Given the description of an element on the screen output the (x, y) to click on. 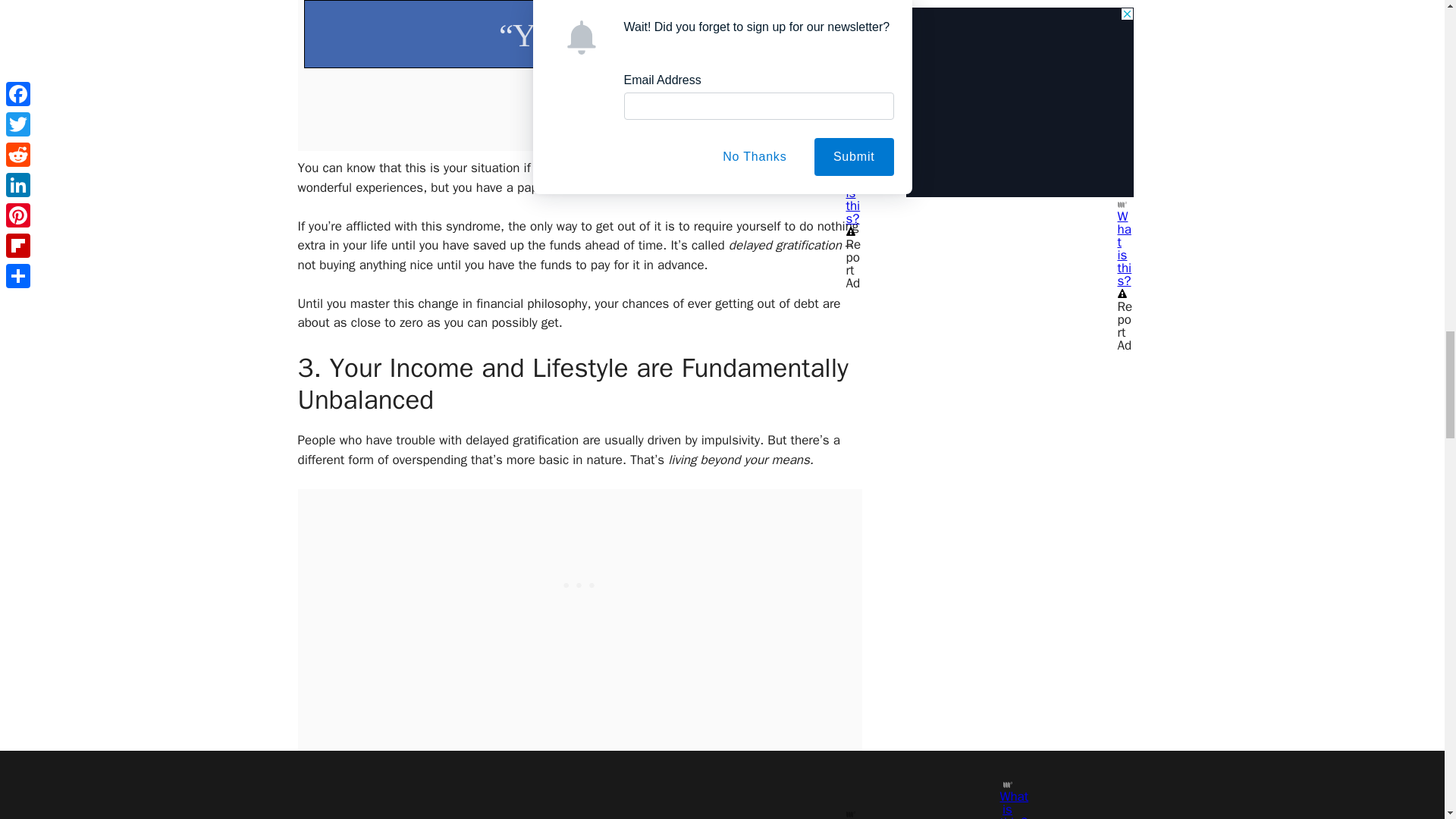
3rd party ad content (579, 583)
